Given the description of an element on the screen output the (x, y) to click on. 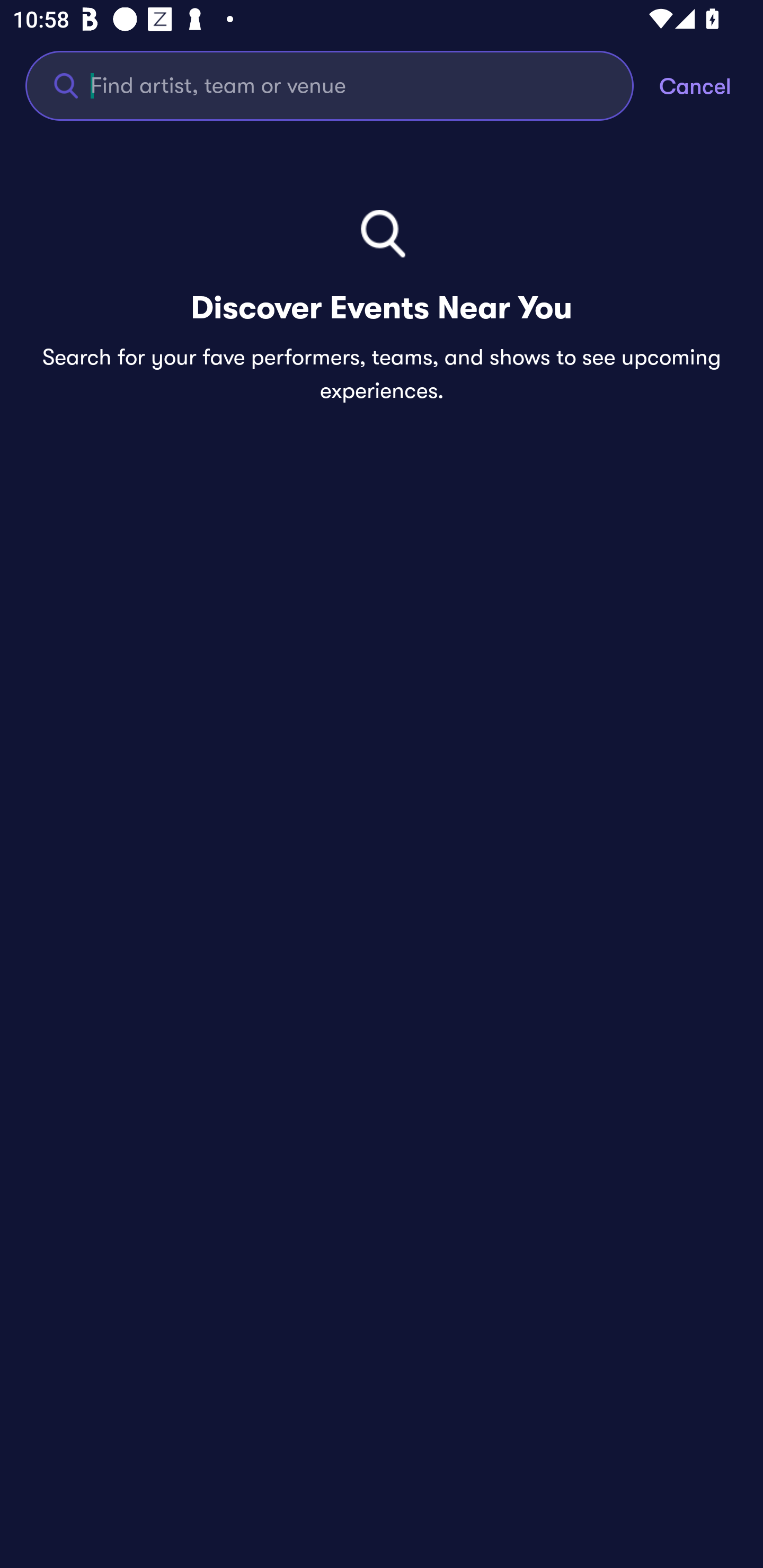
Cancel (711, 85)
Find artist, team or venue Find (329, 85)
Find artist, team or venue Find (341, 85)
